Given the description of an element on the screen output the (x, y) to click on. 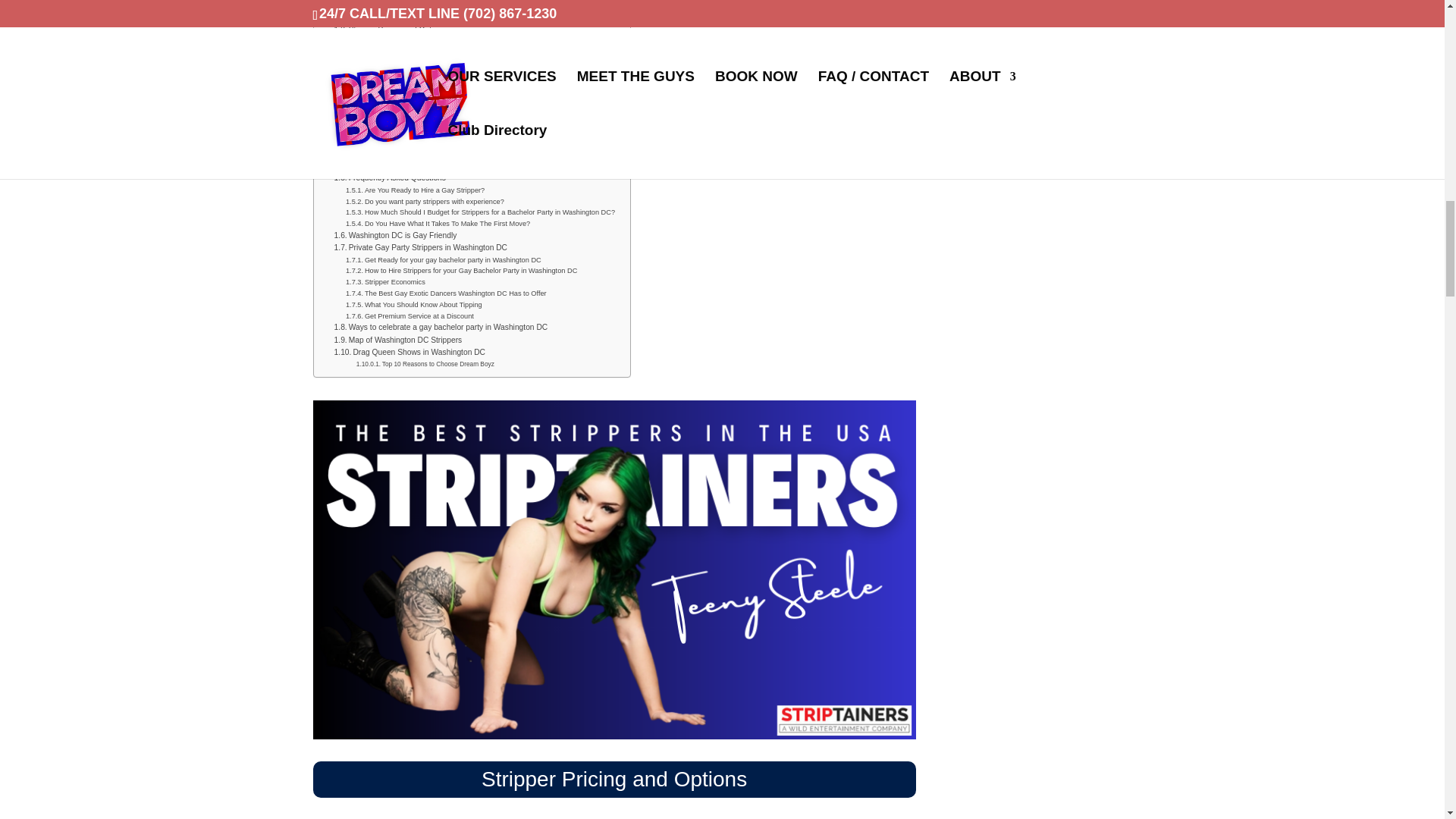
A Washington DC Stripper Agency You Can Trust (426, 18)
What are some crazy fun gay bachelor party games? (437, 75)
A Washington DC Stripper Agency You Can Trust (426, 18)
How do I make a bachelor party more exciting? (428, 87)
Stripper Pricing and Options (389, 30)
How much is a lap dance at a strip club? (417, 41)
Amazing Things for Washington DC Gay Bachelors! (435, 143)
How do I make a bachelor party more exciting? (428, 87)
Hire Washington DC Gay Strippers Today! (414, 5)
